Given the description of an element on the screen output the (x, y) to click on. 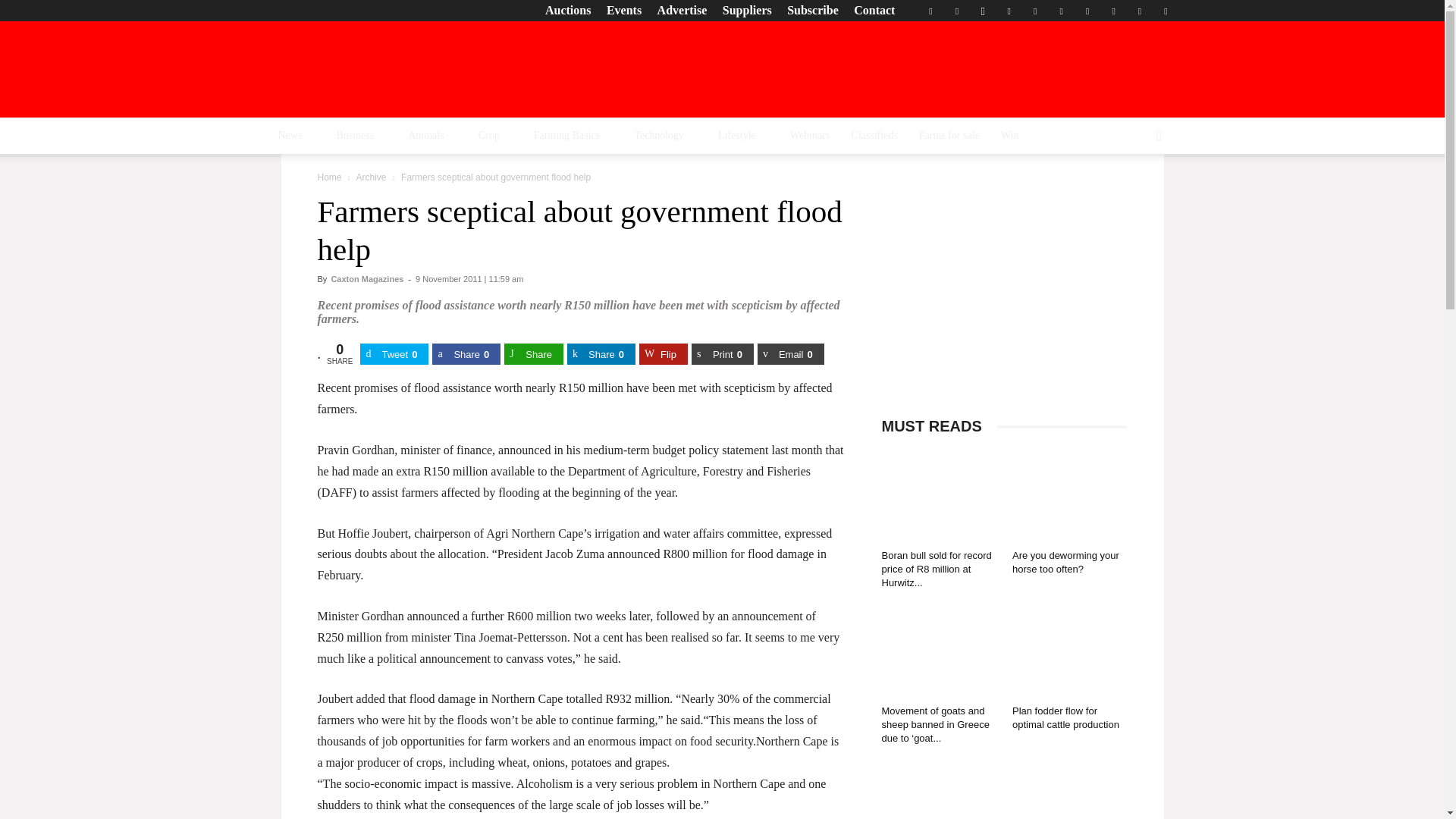
TikTok (1087, 10)
Facebook (930, 10)
RSS (1061, 10)
Instagram (982, 10)
Linkedin (1008, 10)
Pinterest (1034, 10)
Flipboard (956, 10)
